Given the description of an element on the screen output the (x, y) to click on. 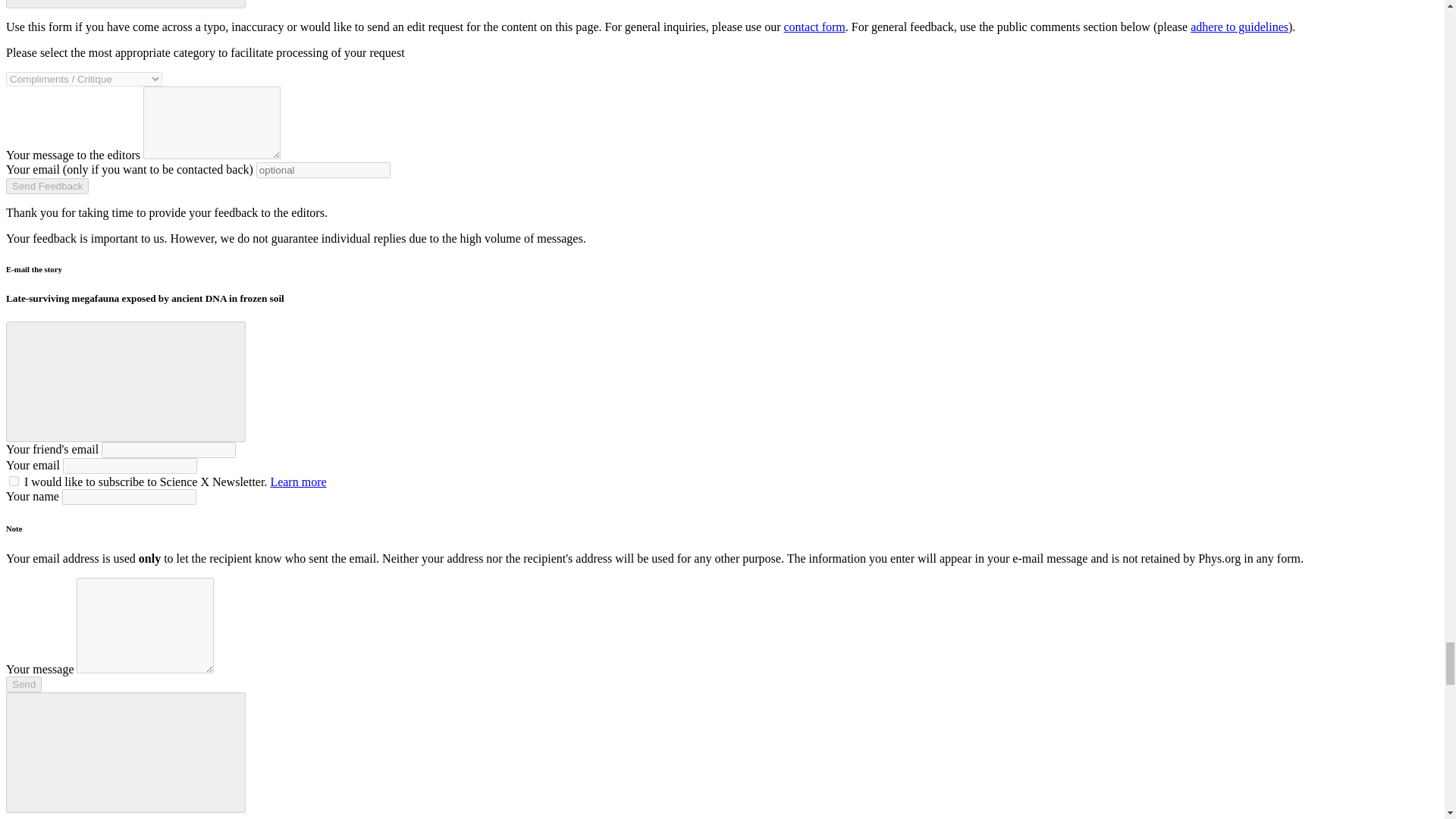
1 (13, 480)
